Given the description of an element on the screen output the (x, y) to click on. 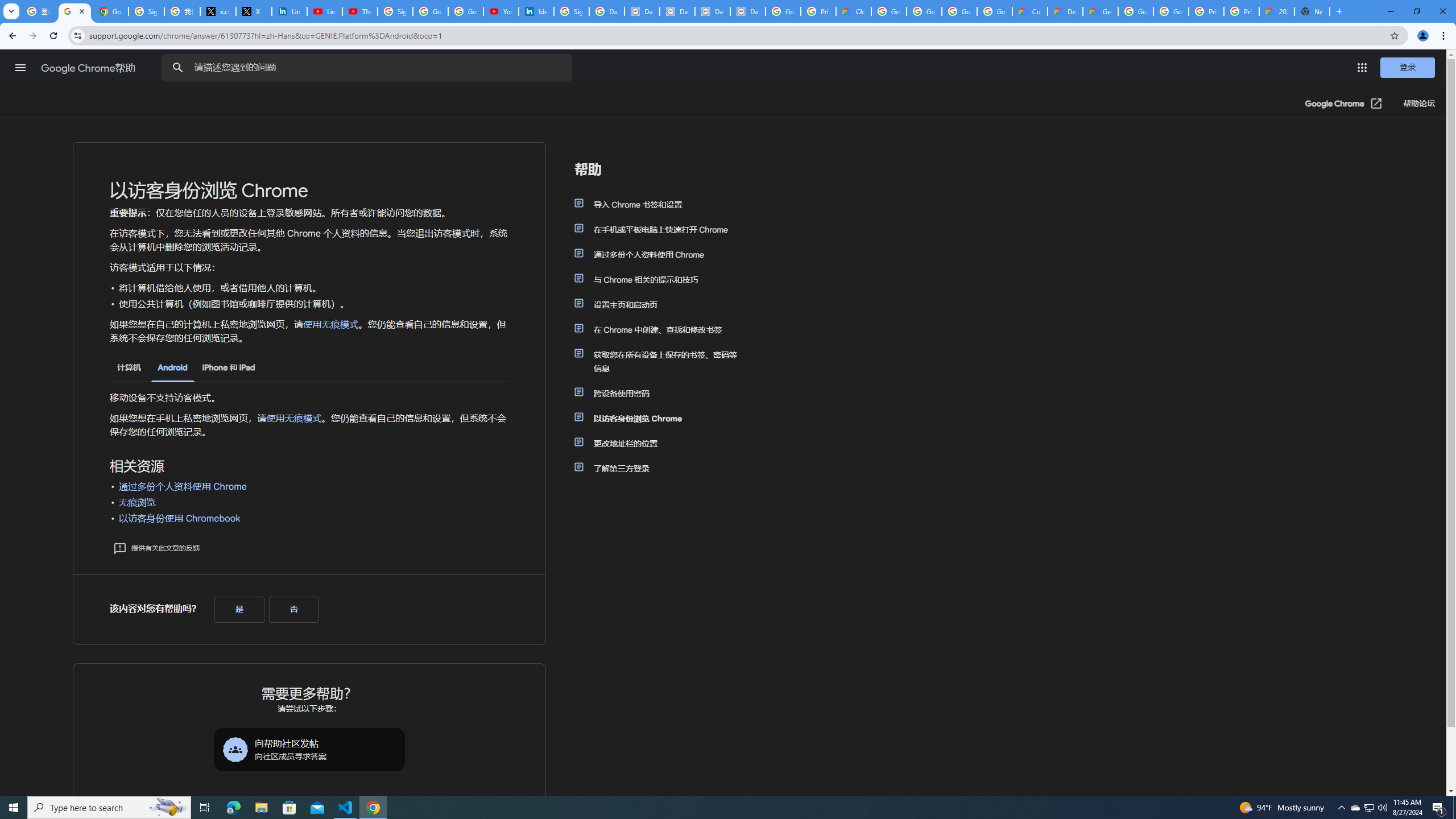
Google Workspace - Specific Terms (959, 11)
Customer Care | Google Cloud (1029, 11)
Data Privacy Framework (747, 11)
